Given the description of an element on the screen output the (x, y) to click on. 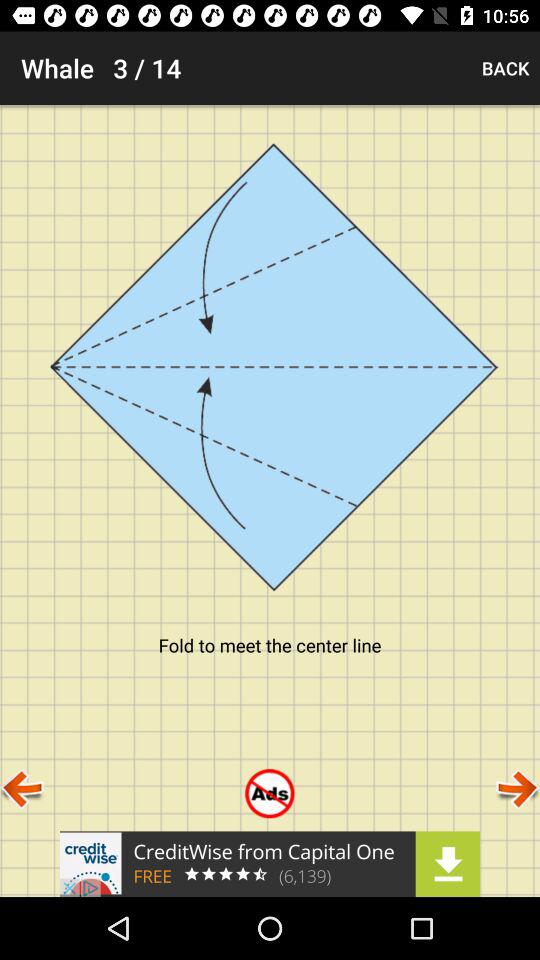
open advertisement (270, 864)
